Given the description of an element on the screen output the (x, y) to click on. 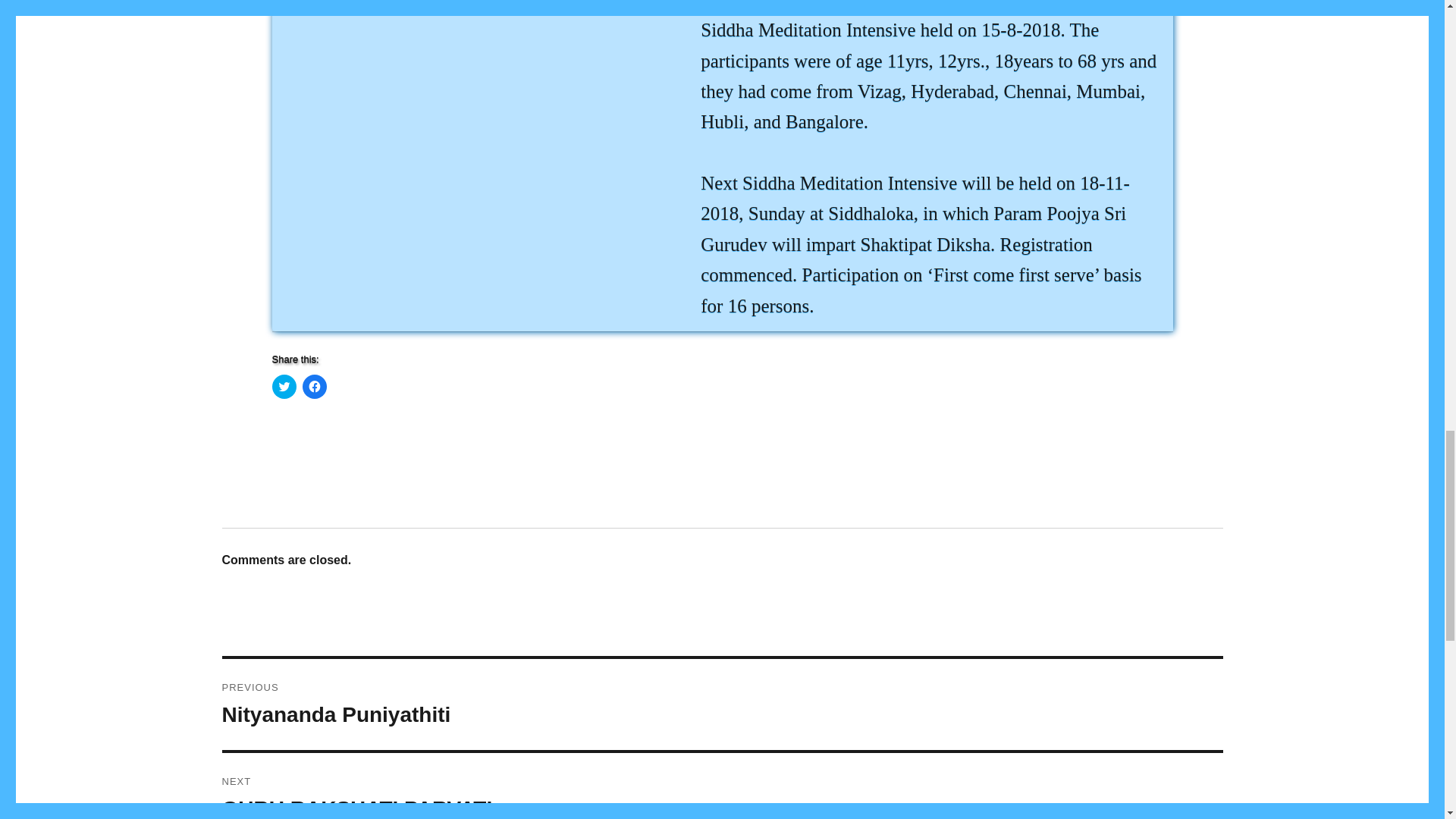
Click to share on Facebook (722, 785)
Click to share on Twitter (722, 704)
